Given the description of an element on the screen output the (x, y) to click on. 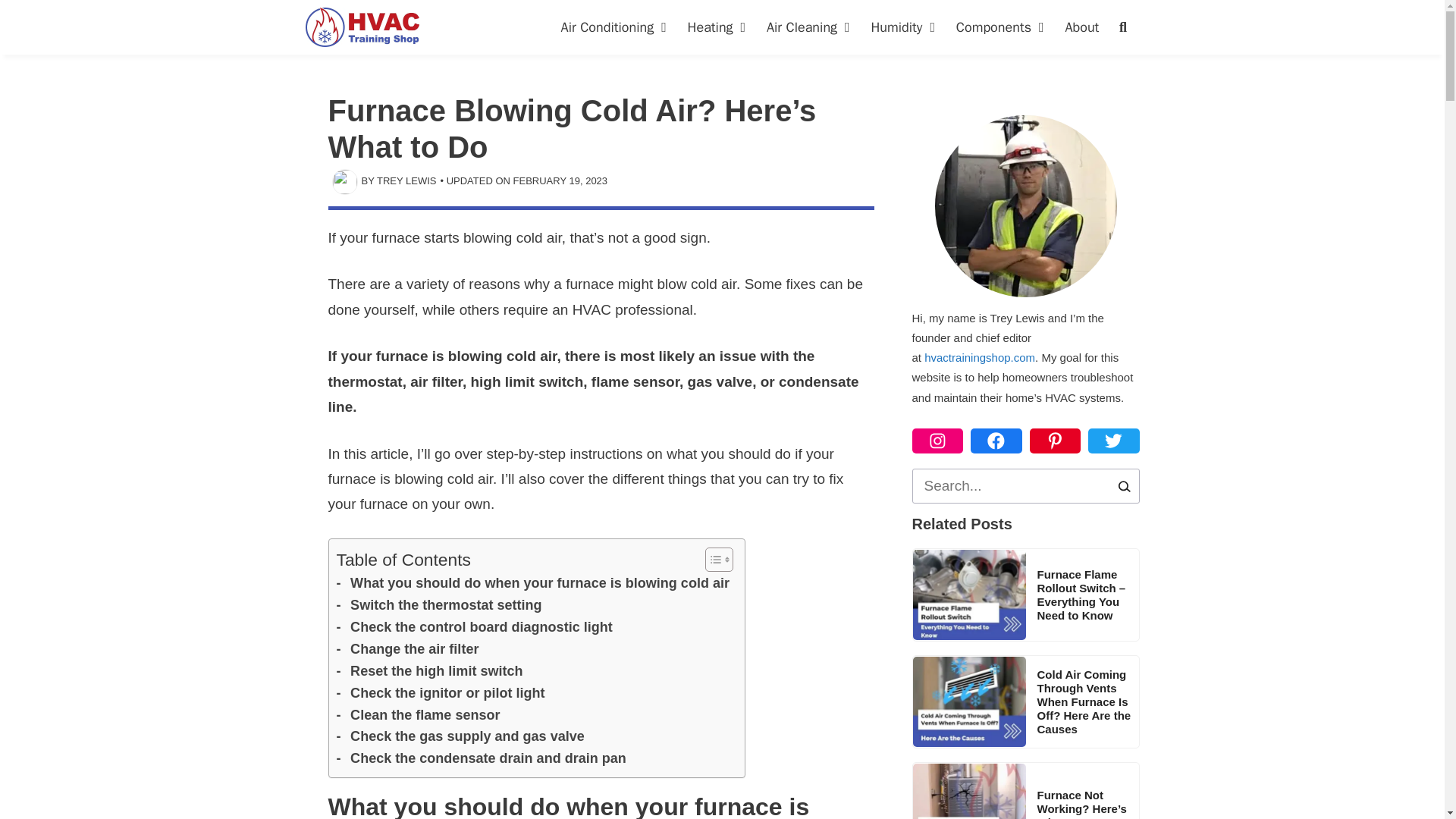
Check the ignitor or pilot light (440, 693)
Humidity (905, 26)
Check the control board diagnostic light (474, 627)
Change the air filter (407, 649)
What you should do when your furnace is blowing cold air (533, 583)
TREY LEWIS (406, 180)
Reset the high limit switch (429, 671)
Air Cleaning (810, 26)
Clean the flame sensor (418, 715)
Check the condensate drain and drain pan (481, 758)
Reset the high limit switch (429, 671)
Heating (718, 26)
Check the control board diagnostic light (474, 627)
Check the condensate drain and drain pan (481, 758)
Components (1003, 26)
